Given the description of an element on the screen output the (x, y) to click on. 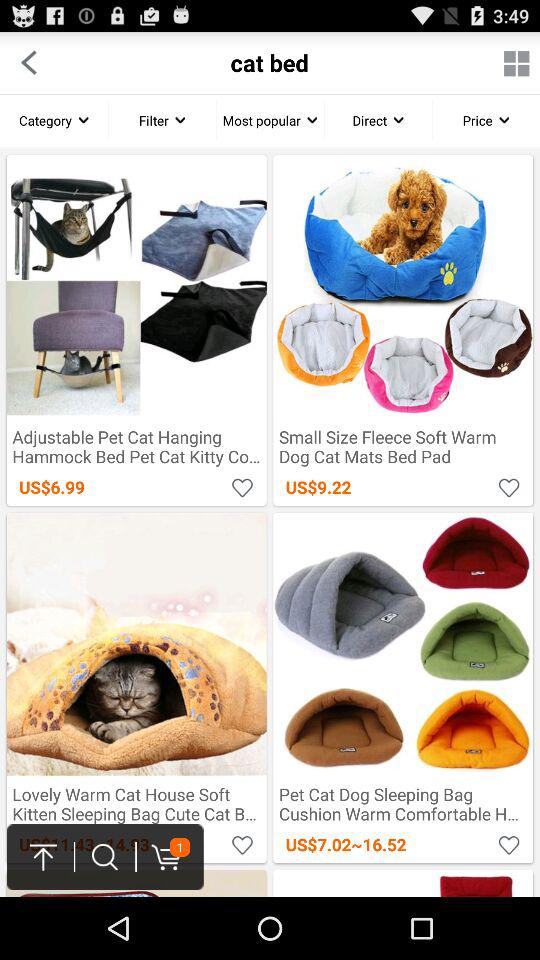
click on the first image (136, 329)
